Given the description of an element on the screen output the (x, y) to click on. 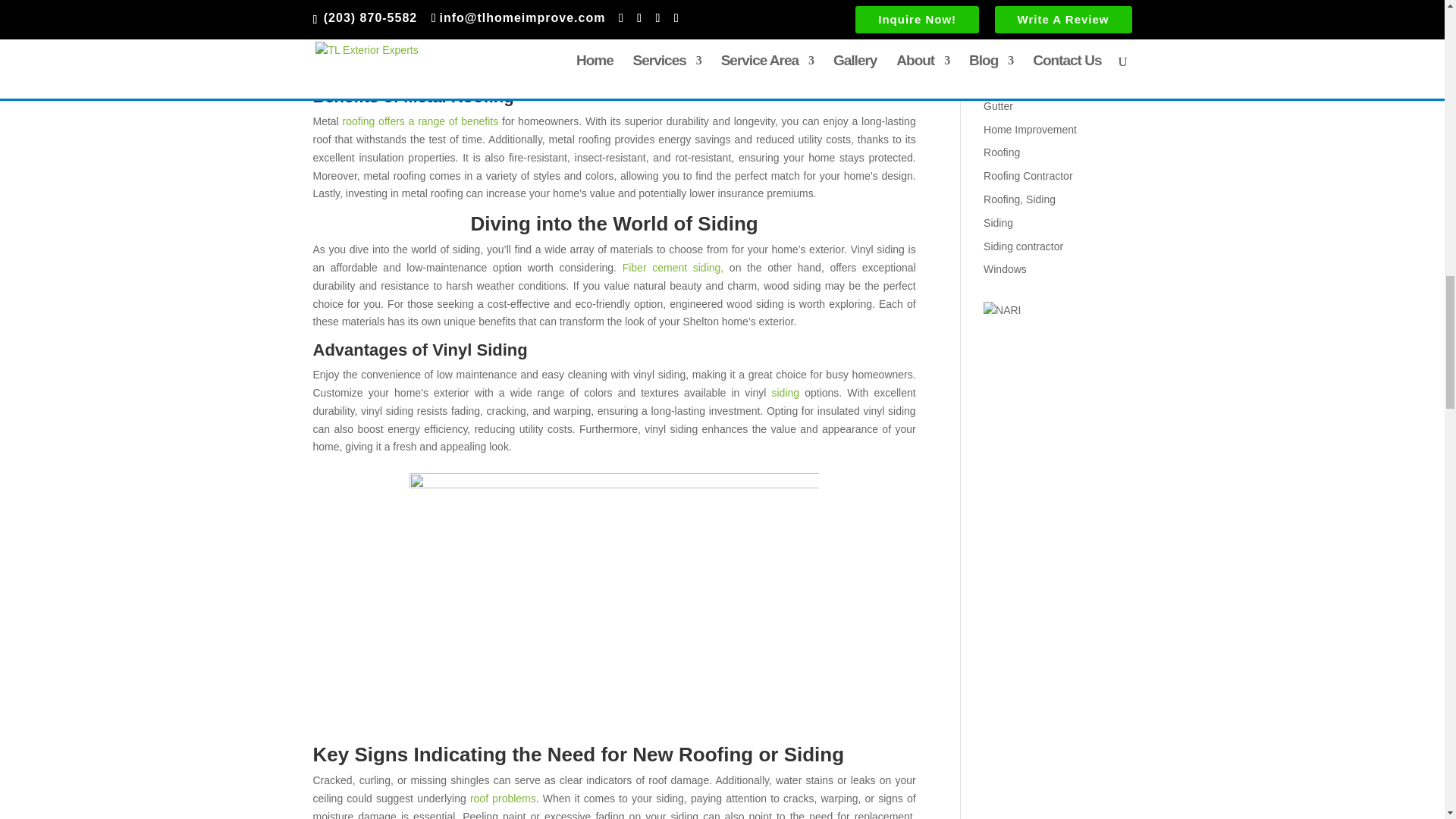
roofing offers a range of benefits (420, 121)
roofing materials (352, 50)
Fiber cement siding, (673, 267)
vinyl (614, 588)
